Given the description of an element on the screen output the (x, y) to click on. 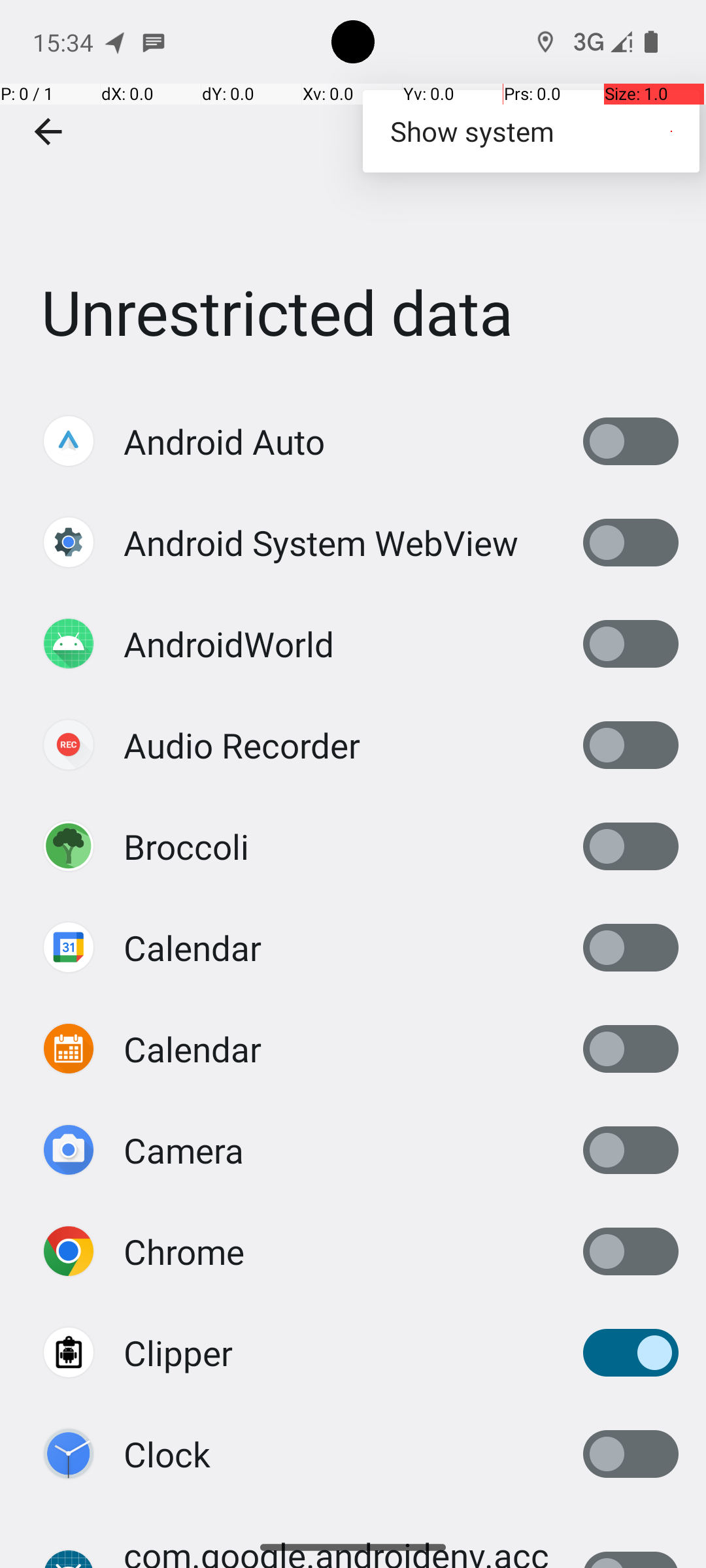
Show system Element type: android.widget.TextView (531, 130)
